Given the description of an element on the screen output the (x, y) to click on. 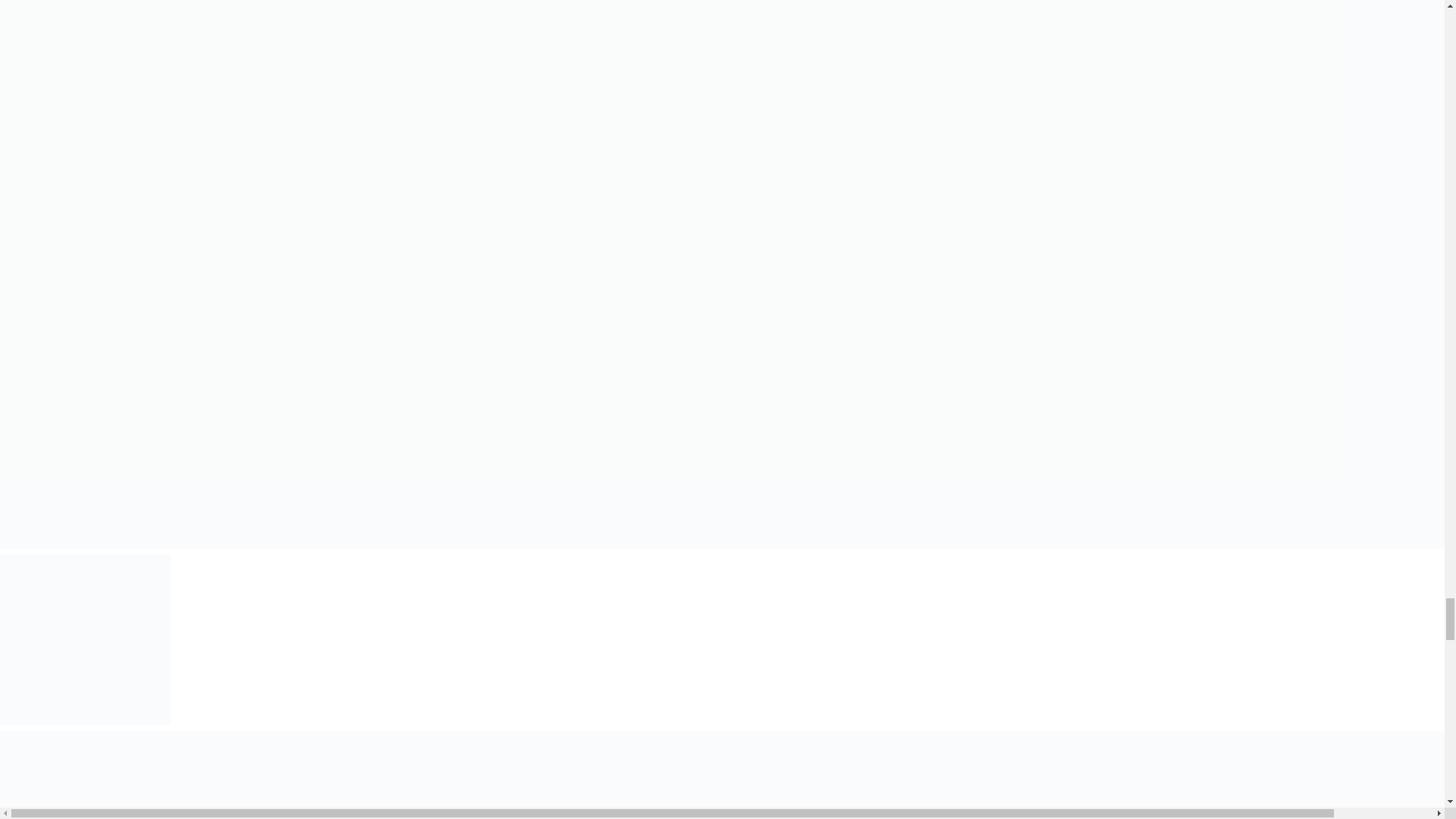
PASCH (85, 639)
